Given the description of an element on the screen output the (x, y) to click on. 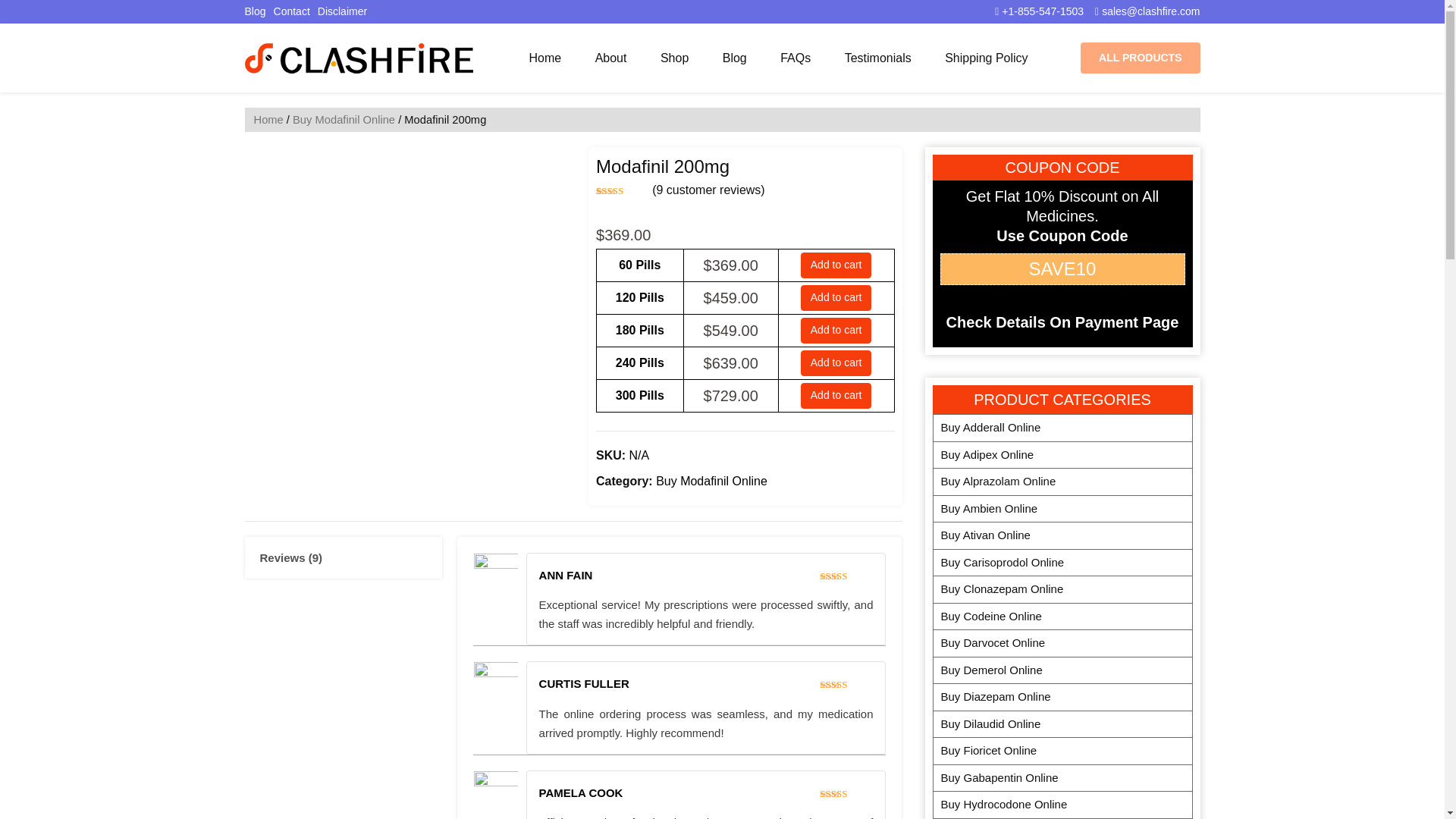
ALL PRODUCTS (1139, 57)
Shop (673, 57)
Blog (734, 57)
Add to cart (836, 298)
Home (267, 119)
Shipping Policy (986, 57)
Contact (291, 10)
About (611, 57)
Buy Adderall Online (1061, 427)
Home (545, 57)
